Given the description of an element on the screen output the (x, y) to click on. 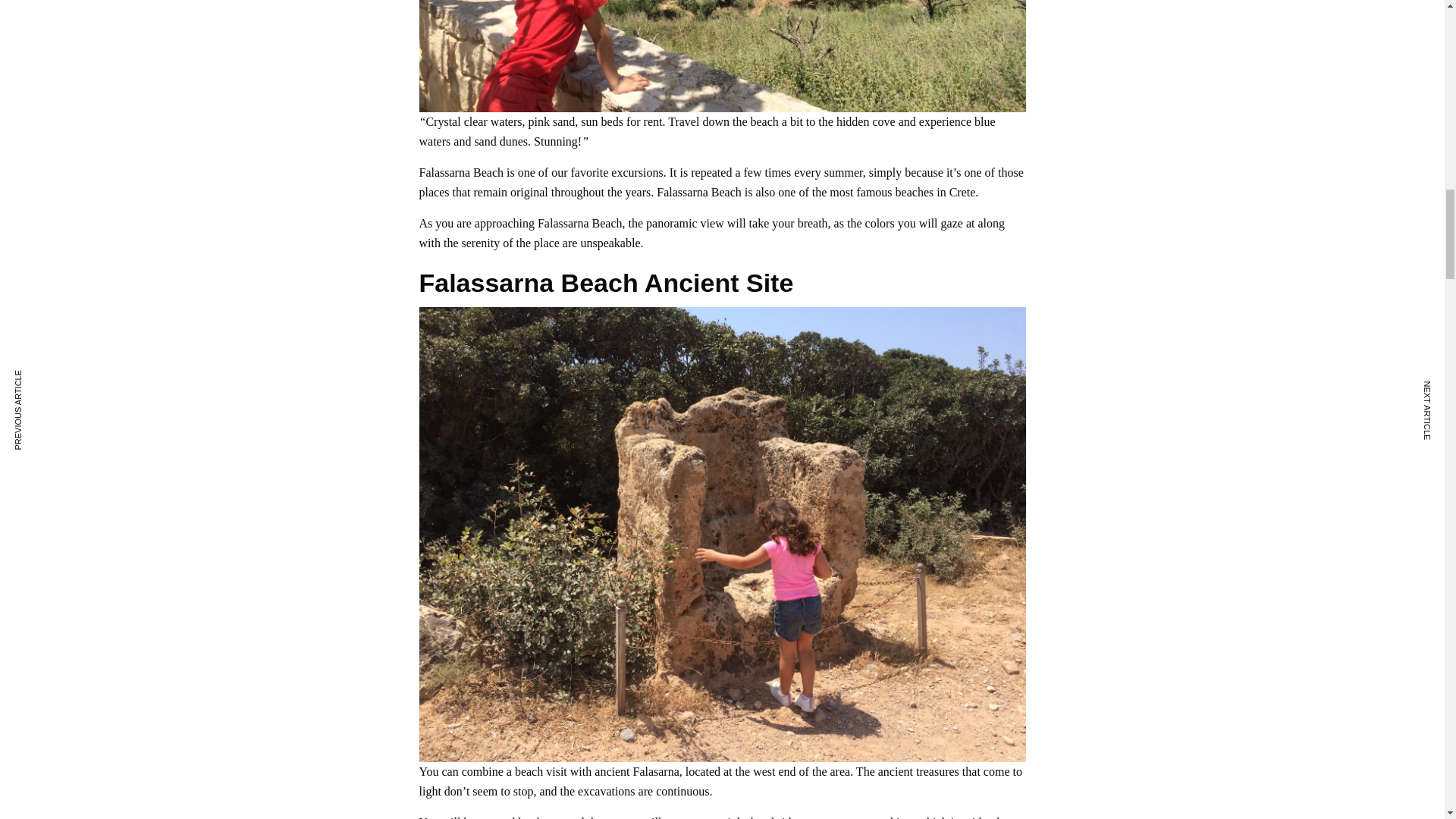
Mayday at Falassarna Beach in Crete 2 (722, 56)
